Given the description of an element on the screen output the (x, y) to click on. 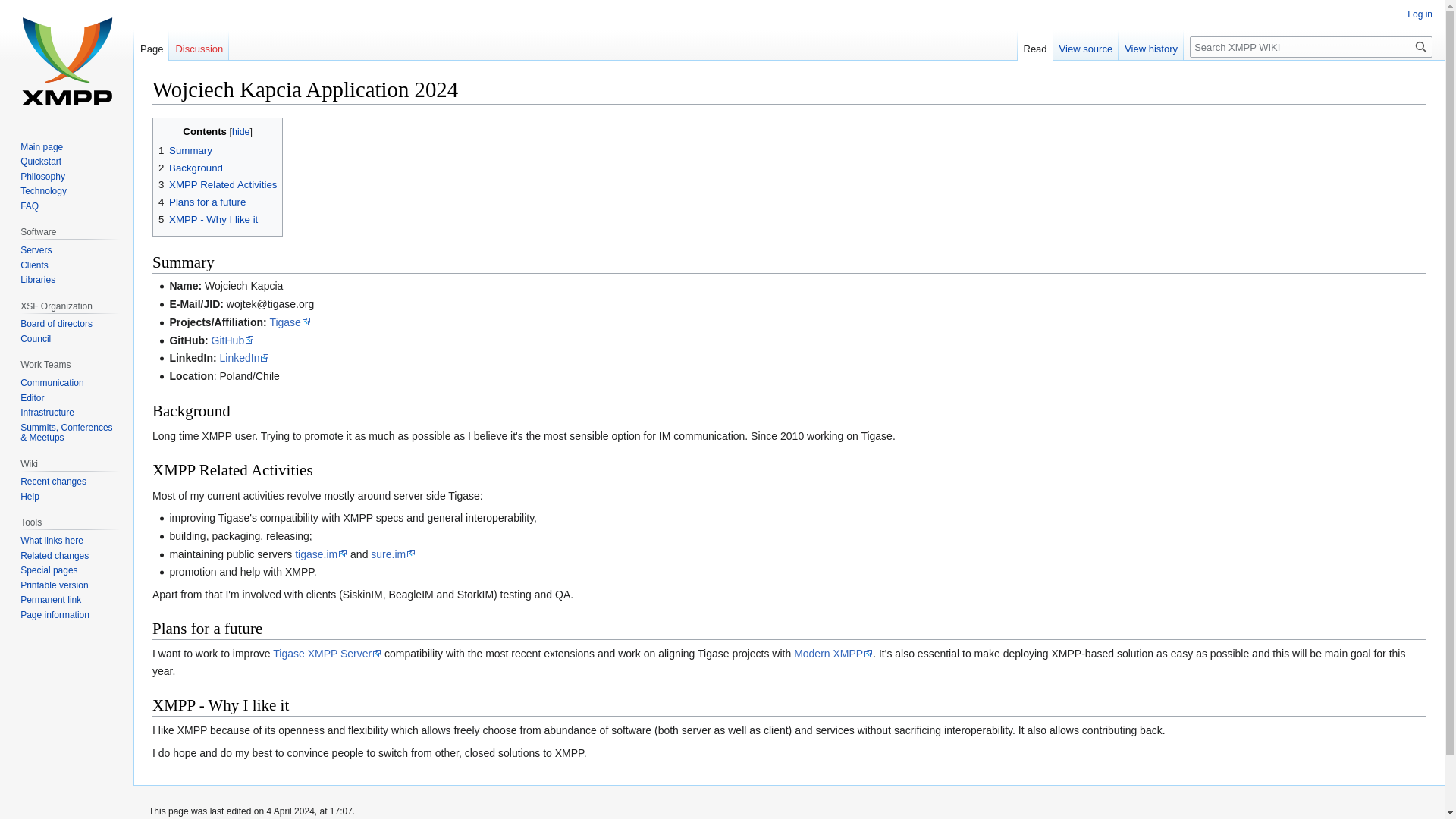
Go (1420, 46)
4 Plans for a future (202, 202)
Quickstart (40, 161)
Visit the main page (66, 60)
The place to find out (29, 496)
Council (35, 338)
Read (1034, 45)
Infrastructure (47, 412)
Discussion (198, 45)
